Given the description of an element on the screen output the (x, y) to click on. 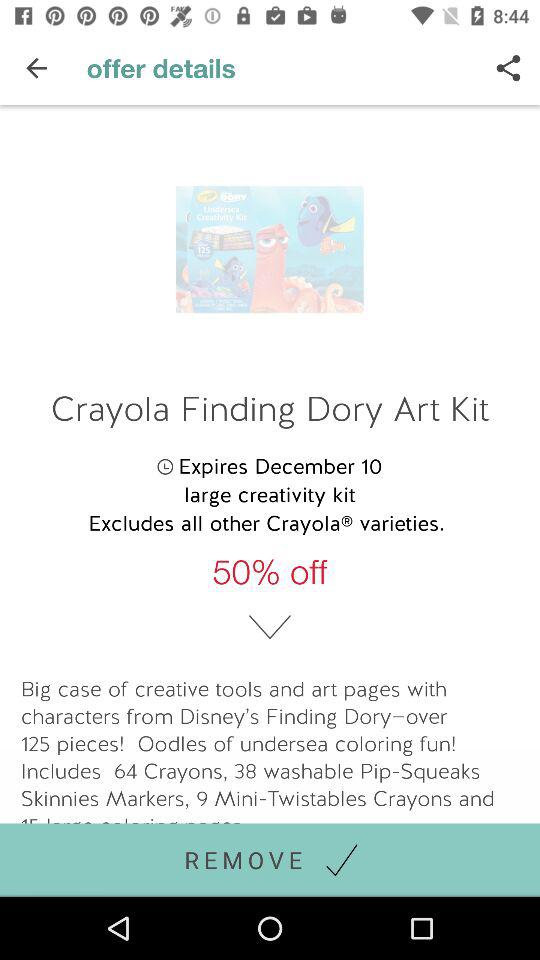
launch the icon above the crayola finding dory (508, 67)
